Given the description of an element on the screen output the (x, y) to click on. 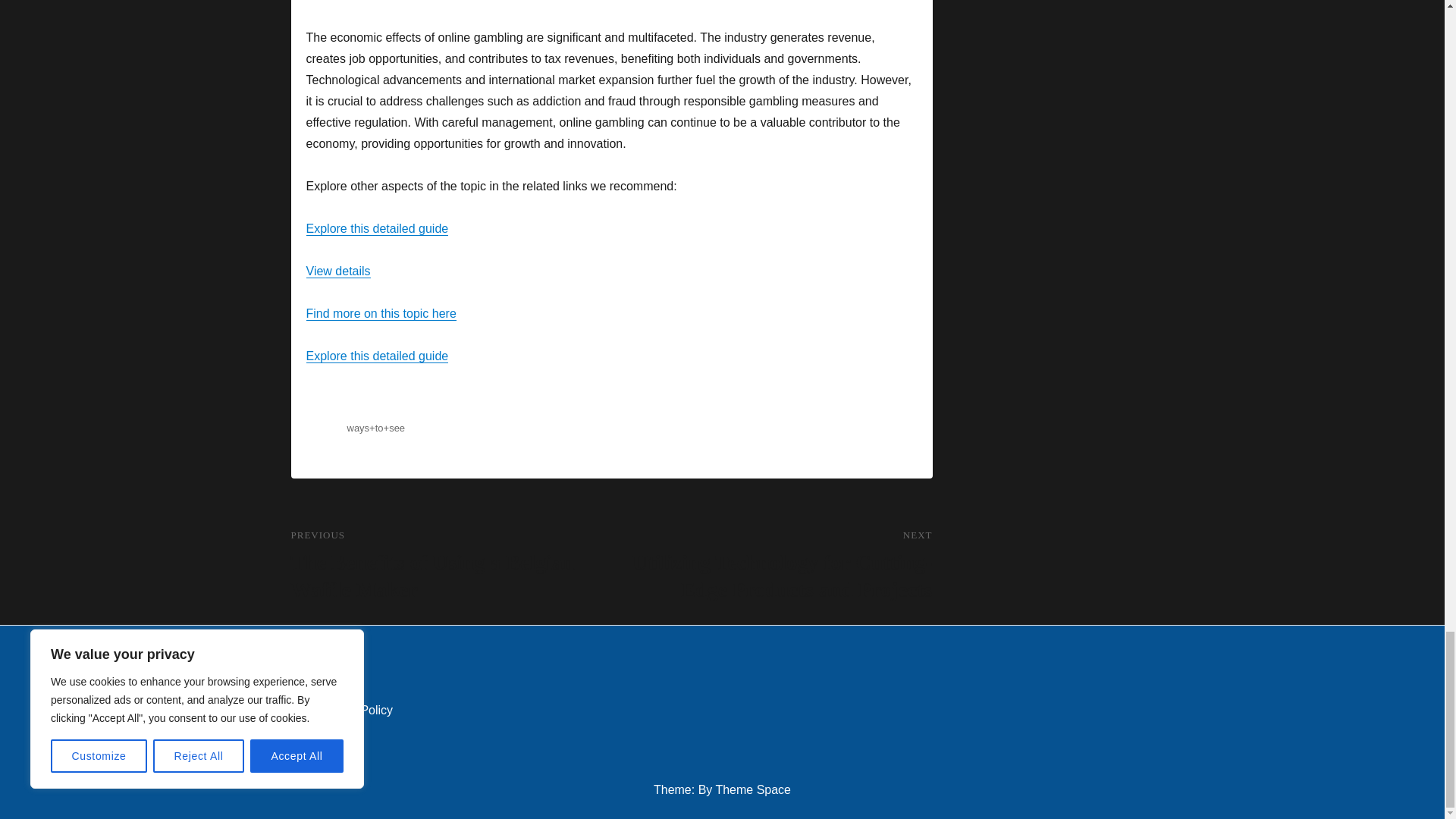
Explore this detailed guide (376, 228)
Find more on this topic here (381, 313)
View details (338, 270)
Explore this detailed guide (376, 355)
